Given the description of an element on the screen output the (x, y) to click on. 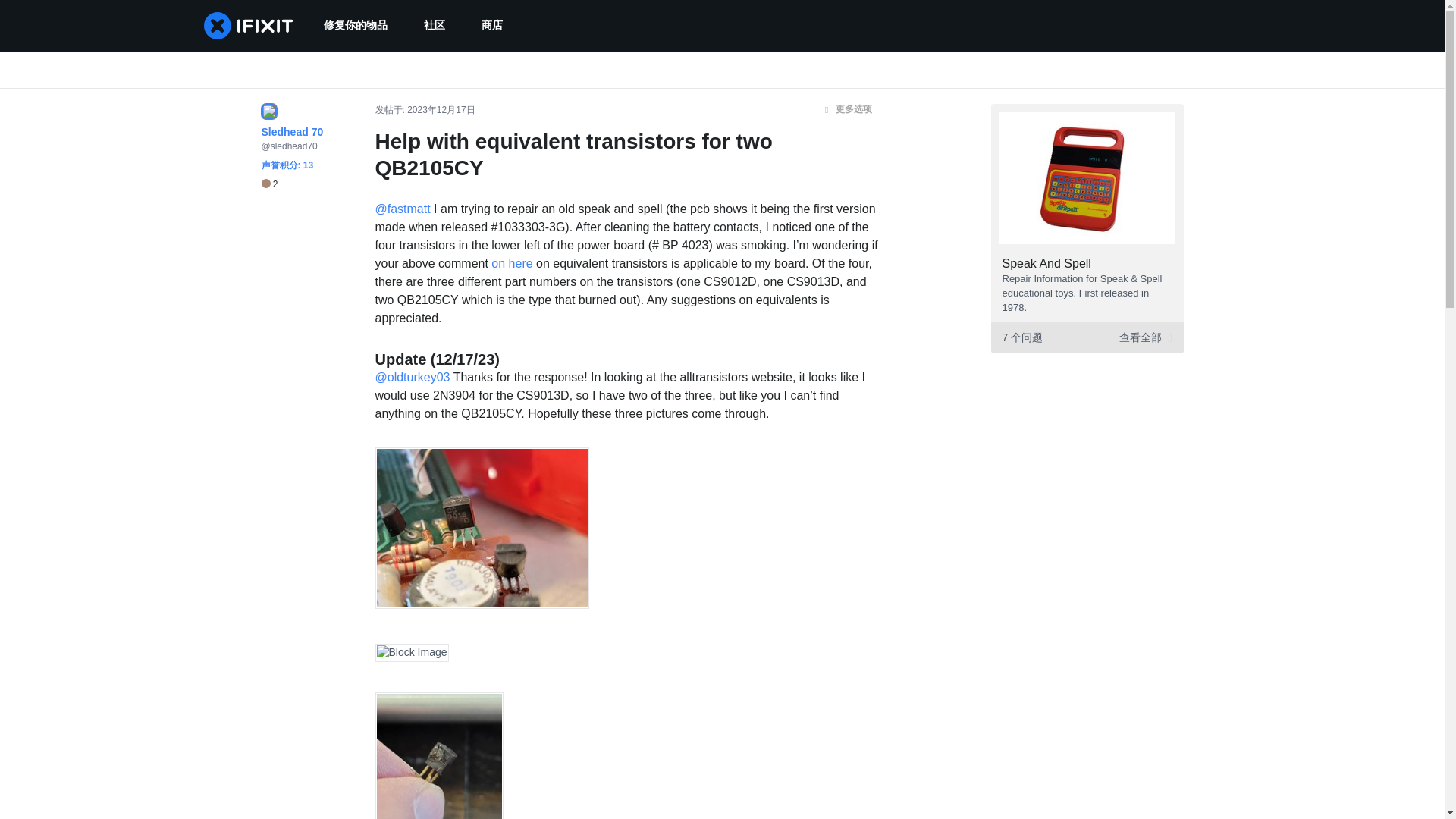
2 (269, 184)
on here (512, 263)
Sun, 17 Dec 2023 18:38:09 -0700 (440, 109)
Speak And Spell (1046, 263)
